Given the description of an element on the screen output the (x, y) to click on. 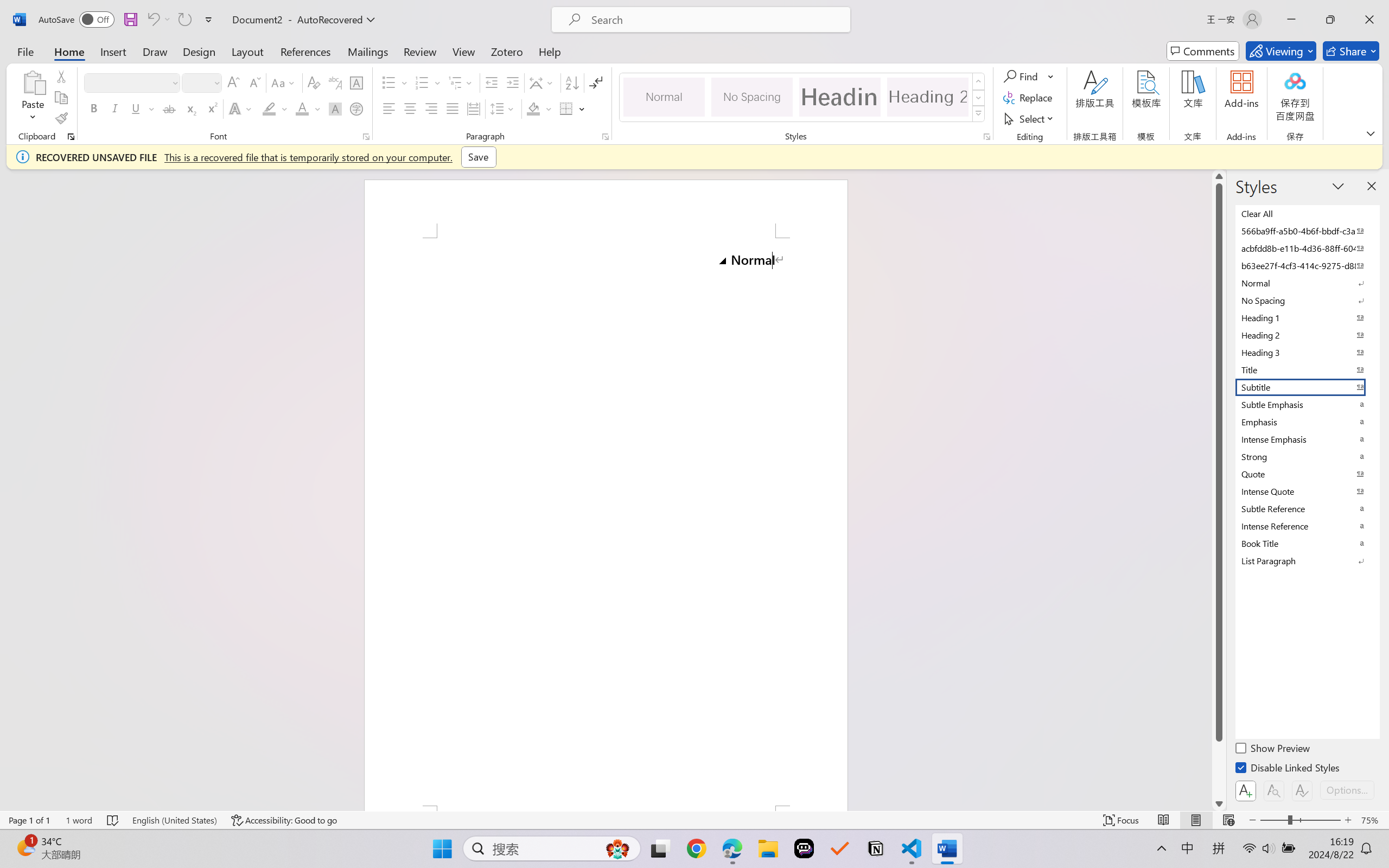
List Paragraph (1306, 560)
Quote (1306, 473)
Character Border (356, 82)
Distributed (473, 108)
Font Color (308, 108)
Bold (94, 108)
